Given the description of an element on the screen output the (x, y) to click on. 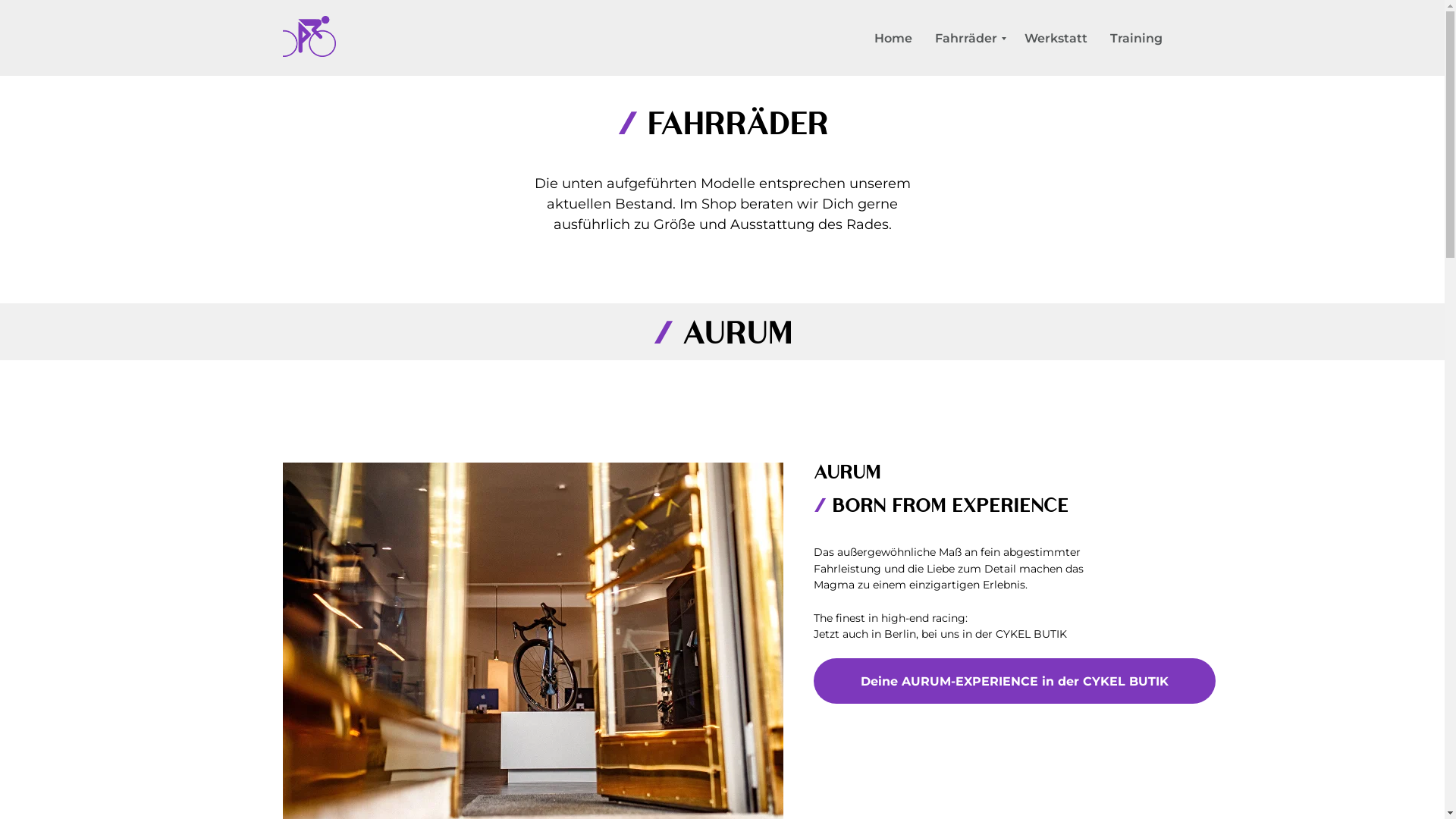
Training Element type: text (1136, 37)
Deine AURUM-EXPERIENCE in der CYKEL BUTIK Element type: text (1013, 680)
Werkstatt Element type: text (1054, 37)
Home Element type: text (892, 37)
